Given the description of an element on the screen output the (x, y) to click on. 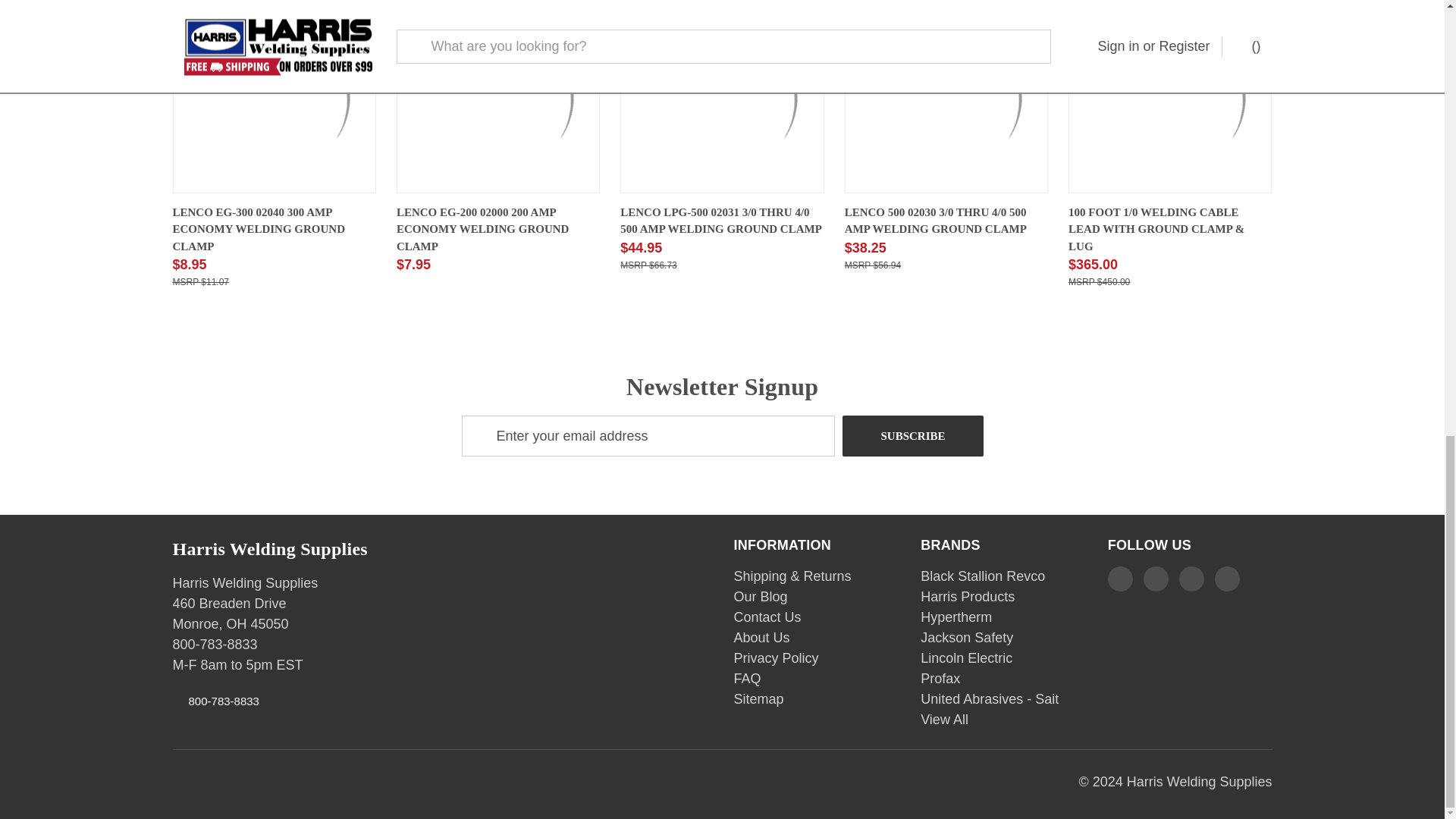
LENCO EG-300 02040 300 AMP ECONOMY WELDING GROUND CLAMP (274, 229)
QUICK VIEW (669, 205)
Lenco EG-300 02040 300 Amp Economy Welding Ground Clamp (274, 97)
QUICK VIEW (893, 205)
Lenco EG-200 02000 200 Amp Economy Welding Ground Clamp (497, 97)
Subscribe (912, 435)
LENCO EG-200 02000 200 AMP ECONOMY WELDING GROUND CLAMP (497, 229)
QUICK VIEW (446, 205)
QUICK VIEW (1117, 205)
QUICK VIEW (221, 205)
